Given the description of an element on the screen output the (x, y) to click on. 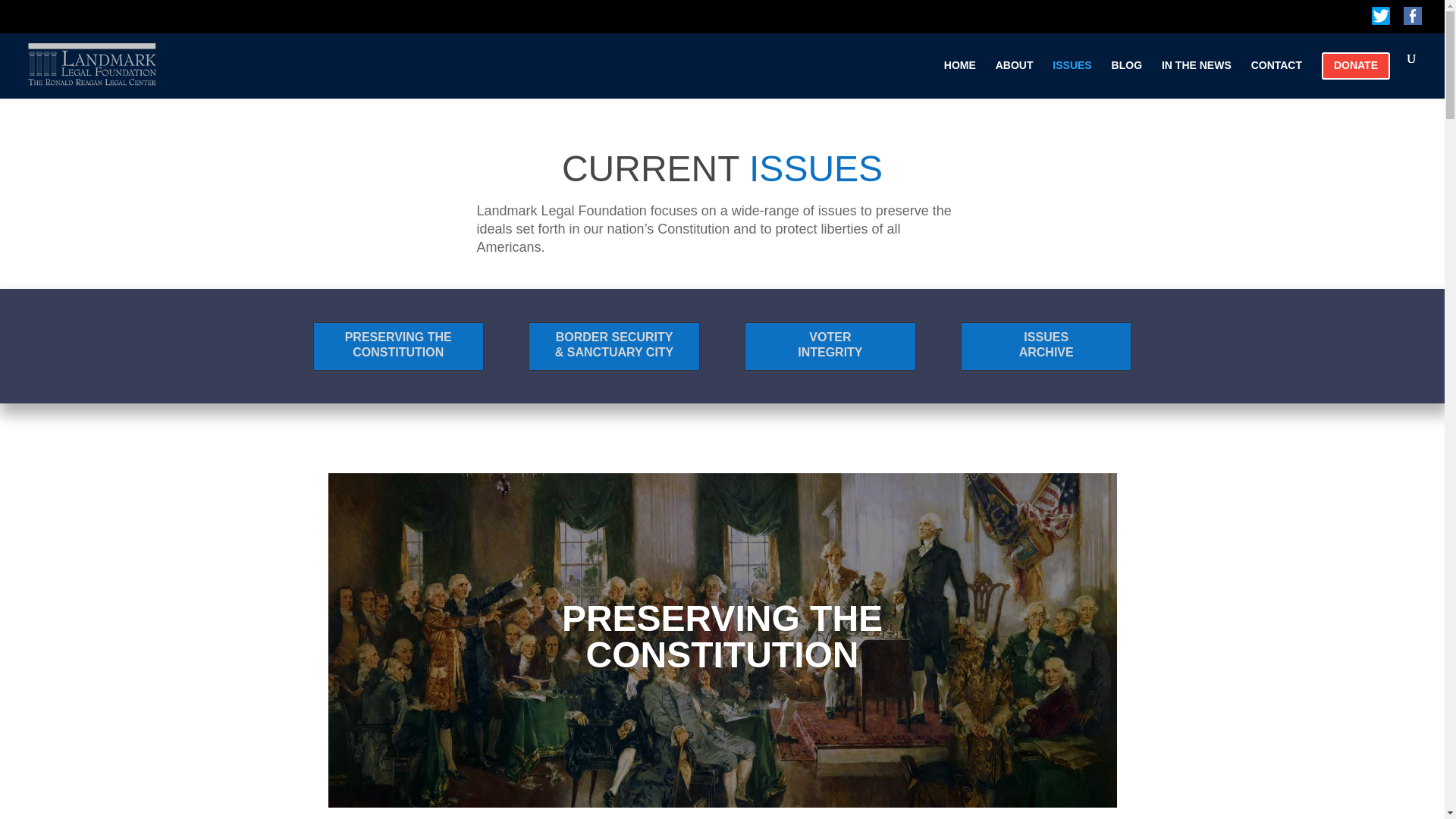
CONTACT (1275, 74)
BLOG (1046, 344)
ABOUT (1126, 74)
HOME (1014, 74)
BORDER SECURITY (959, 74)
ISSUES (829, 344)
IN THE NEWS (398, 344)
DONATE (614, 336)
